Given the description of an element on the screen output the (x, y) to click on. 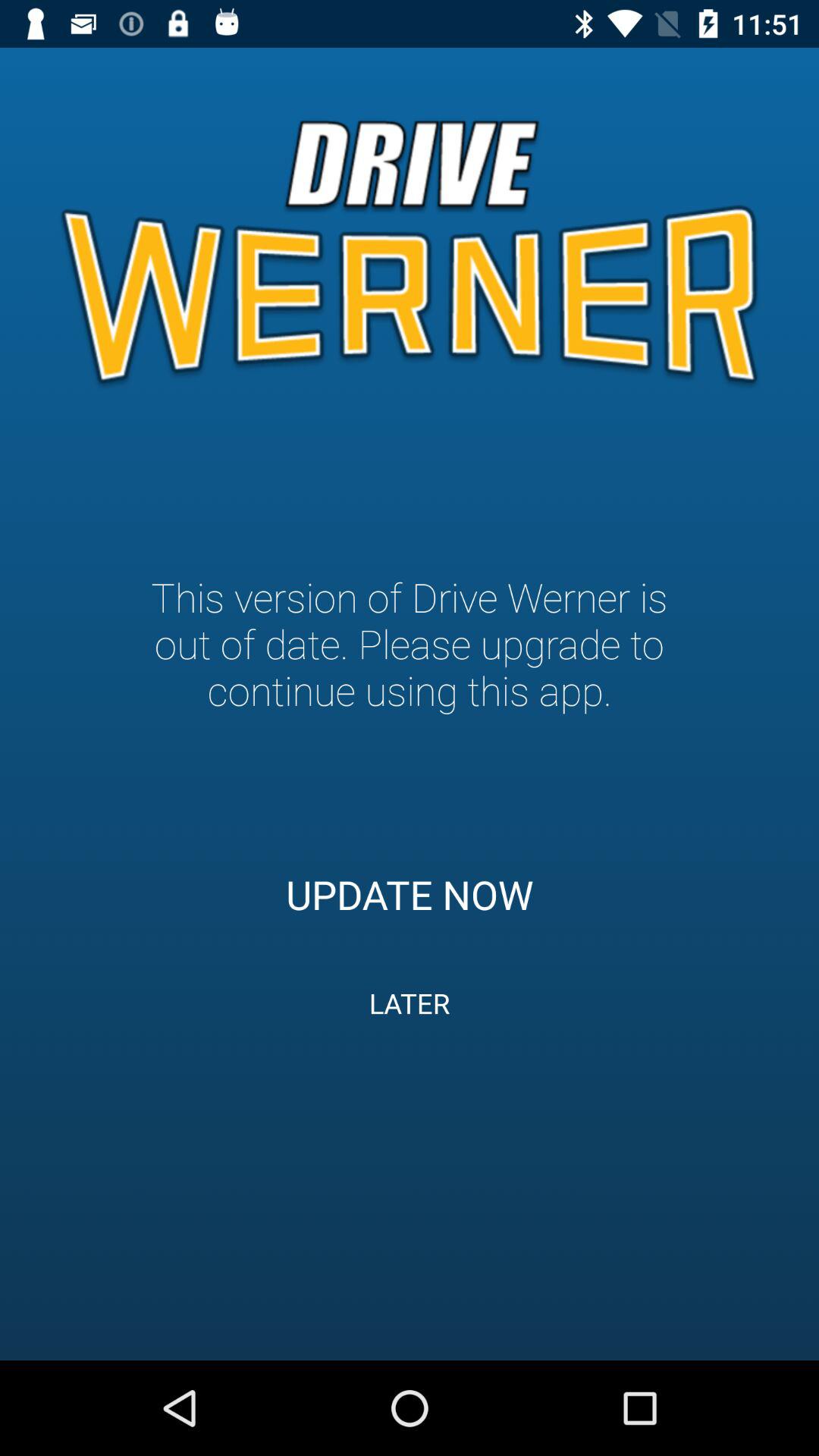
swipe to the update now item (409, 894)
